Given the description of an element on the screen output the (x, y) to click on. 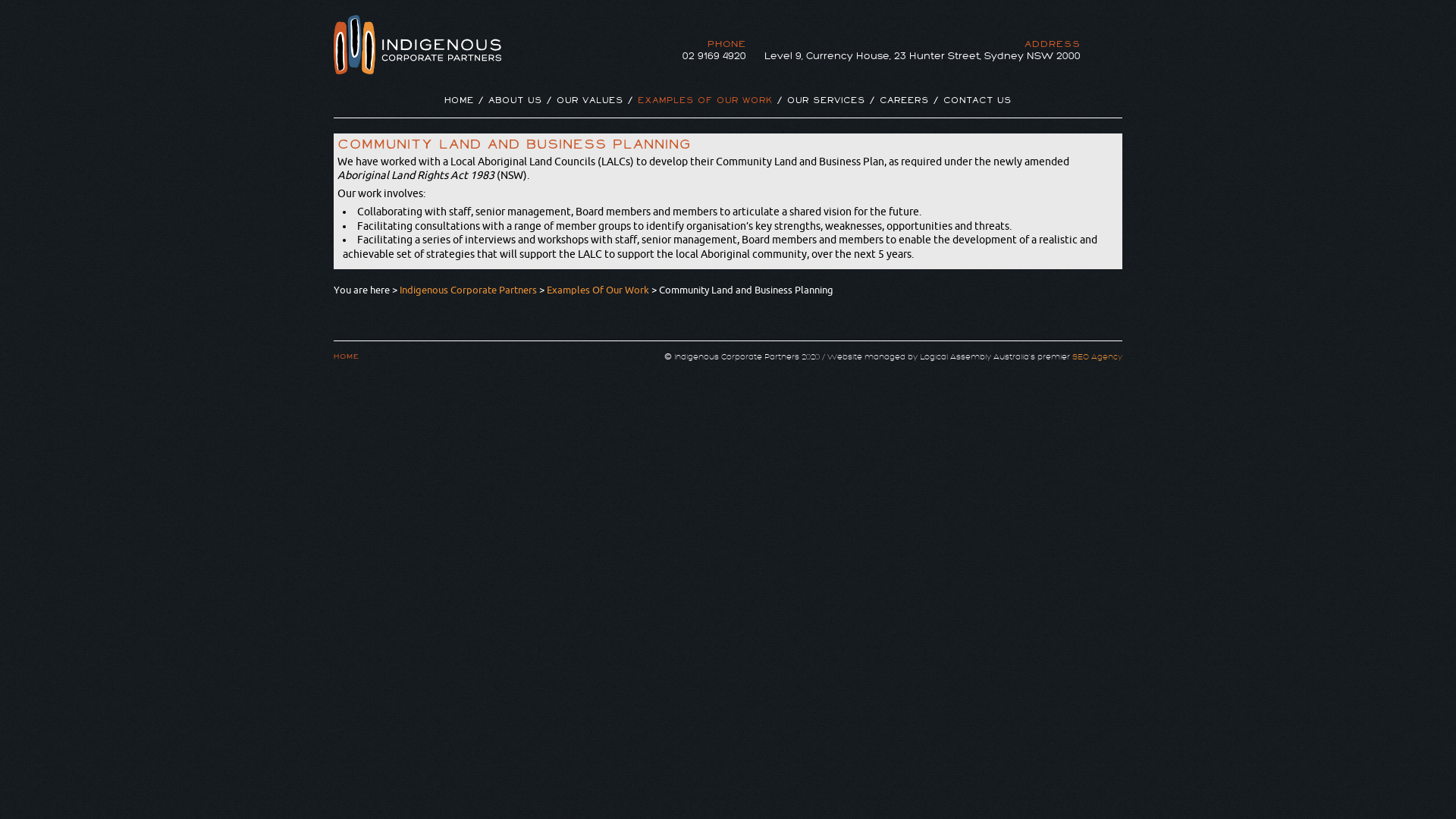
Contact Us Element type: text (977, 104)
Home Element type: text (458, 104)
Our Services Element type: text (826, 104)
Examples Of Our Work Element type: text (597, 289)
Indigenous Corporate Partners Element type: text (467, 289)
Careers Element type: text (903, 104)
About Us Element type: text (515, 104)
Examples Of Our Work Element type: text (704, 104)
Our Values Element type: text (589, 104)
Home Element type: text (346, 356)
SEO Agency Element type: text (1097, 356)
